Given the description of an element on the screen output the (x, y) to click on. 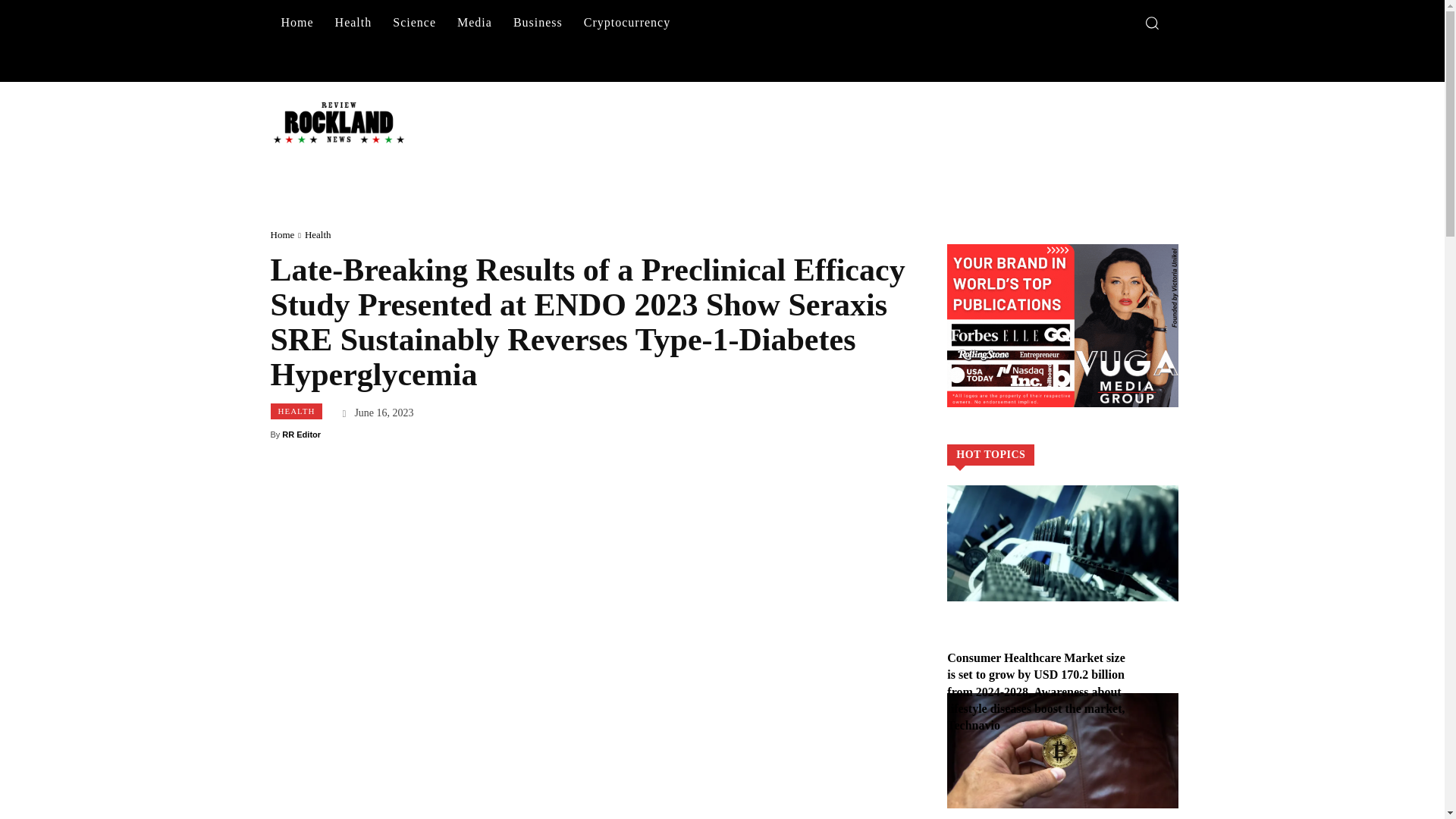
Home (281, 234)
HEALTH (295, 411)
Health (317, 234)
rockland review news (337, 122)
RR Editor (301, 434)
View all posts in Health (317, 234)
rockland review news (319, 122)
Health (353, 22)
Home (296, 22)
Science (413, 22)
Media (474, 22)
Business (537, 22)
Cryptocurrency (627, 22)
